Given the description of an element on the screen output the (x, y) to click on. 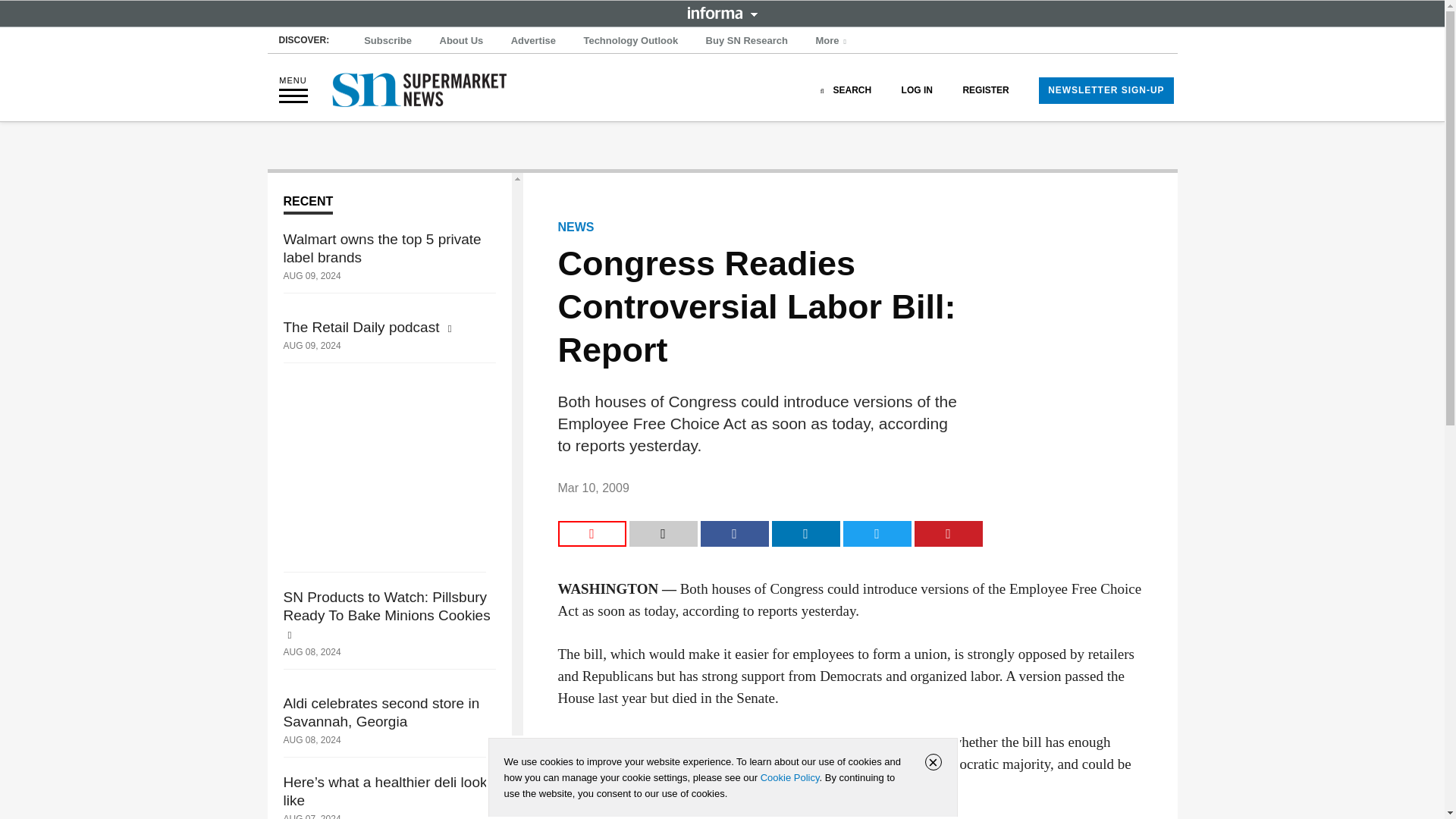
Subscribe (387, 41)
Technology Outlook (630, 41)
INFORMA (722, 12)
More (832, 41)
About Us (461, 41)
Cookie Policy (789, 777)
Buy SN Research (746, 41)
Advertise (533, 41)
